Given the description of an element on the screen output the (x, y) to click on. 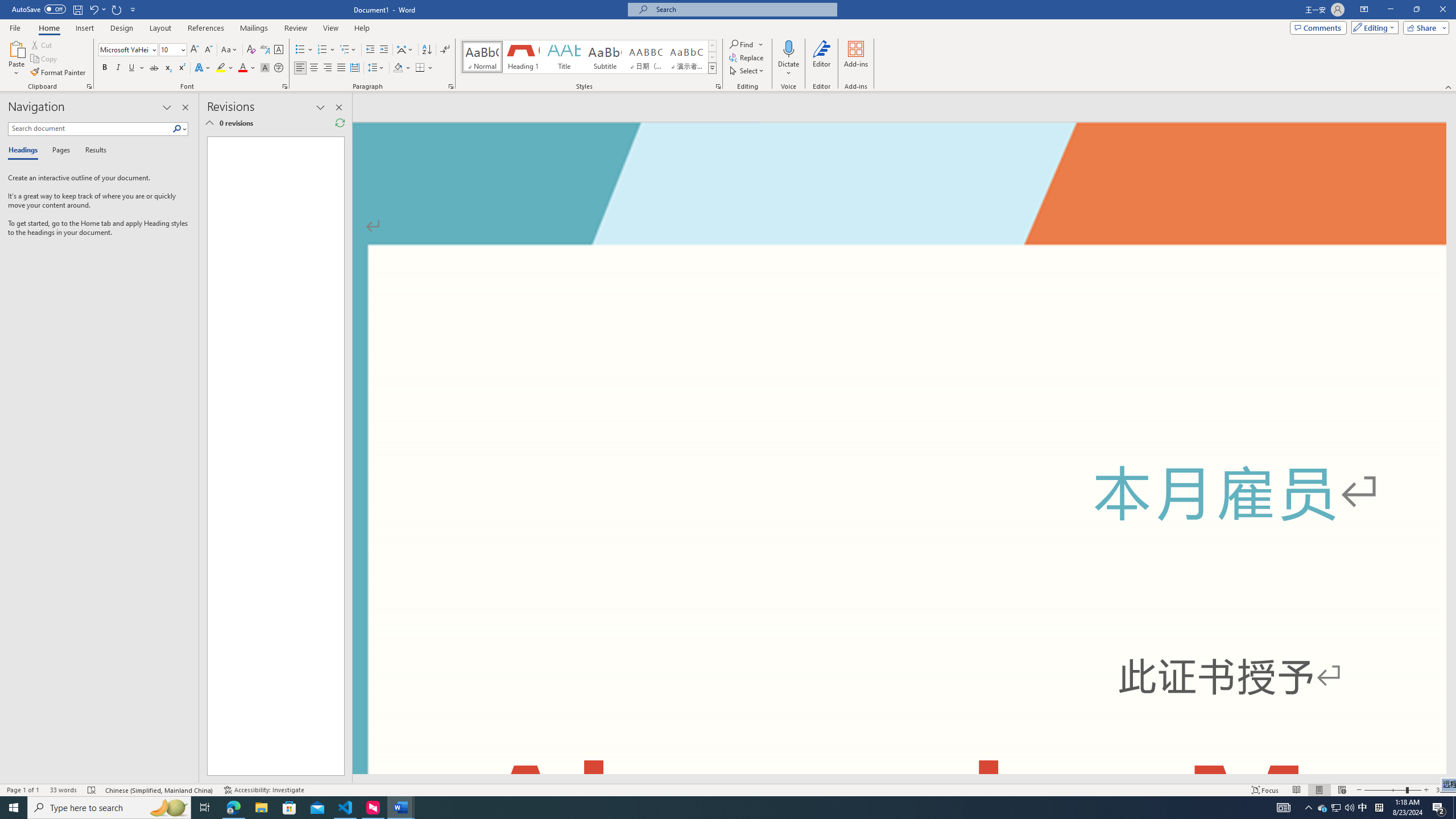
Refresh Reviewing Pane (339, 122)
